Given the description of an element on the screen output the (x, y) to click on. 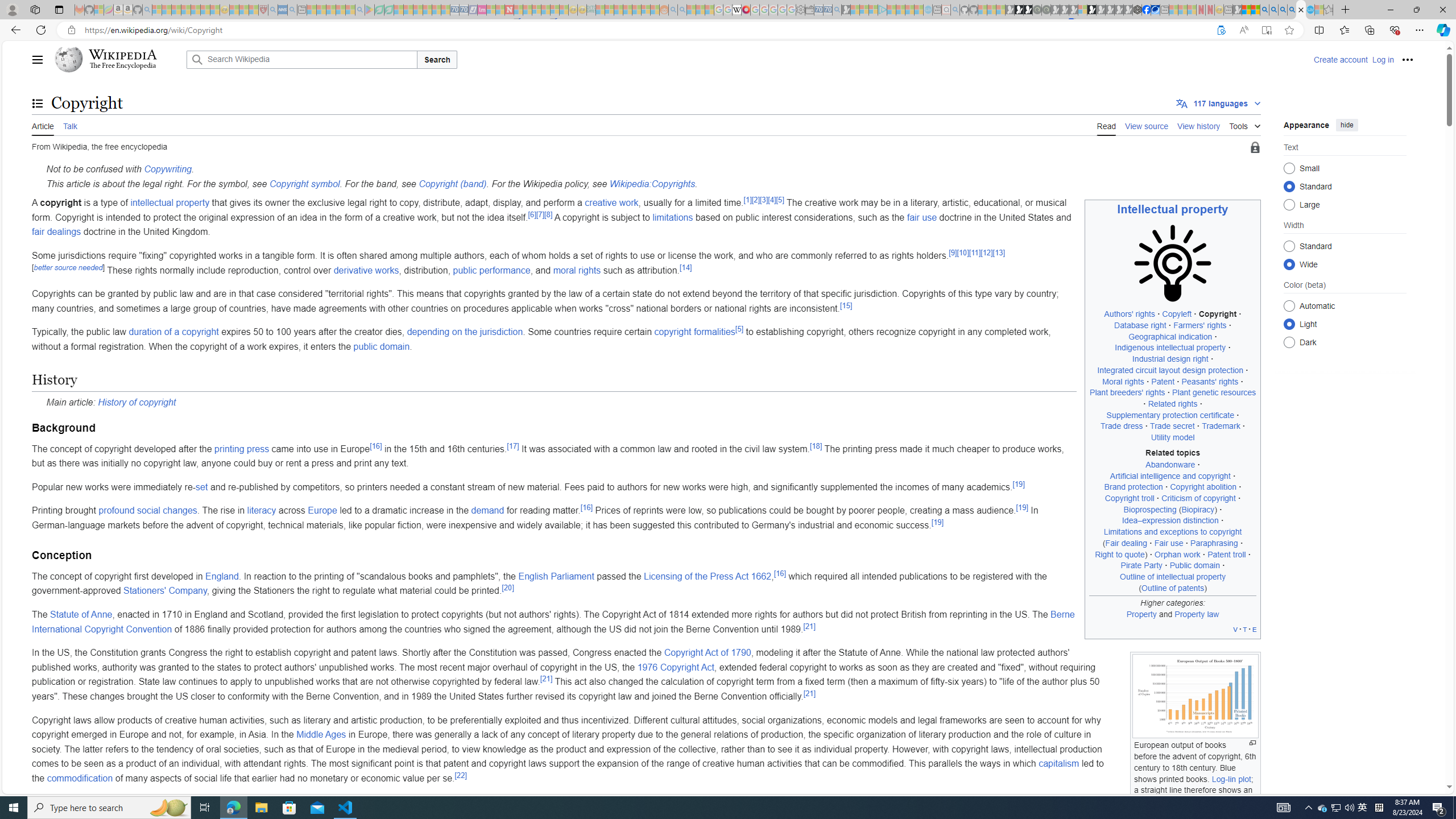
[19] (936, 521)
Utility model (1172, 437)
fair use (922, 217)
Automatic (1289, 305)
Class: mw-file-description (1195, 696)
Statute of Anne (80, 614)
Read (1106, 124)
Class: sidebar-image (1172, 263)
Copywriting (168, 169)
Services - Maintenance | Sky Blue Bikes - Sky Blue Bikes (1309, 9)
[13] (998, 252)
